Given the description of an element on the screen output the (x, y) to click on. 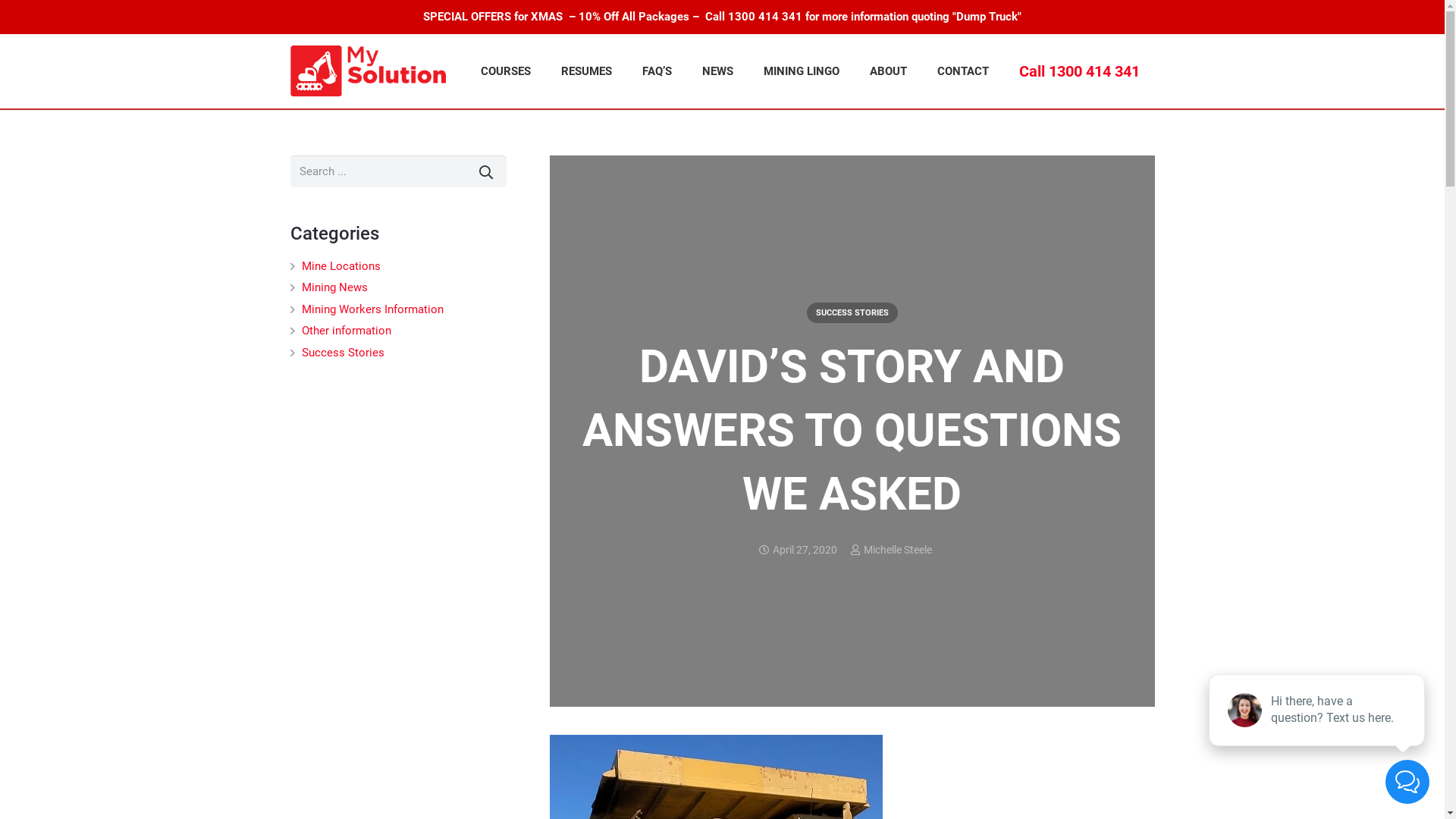
Michelle Steele Element type: text (896, 549)
COURSES Element type: text (505, 71)
Success Stories Element type: text (342, 352)
Mining News Element type: text (334, 287)
Mine Locations Element type: text (340, 266)
RESUMES Element type: text (586, 71)
Mining Workers Information Element type: text (372, 309)
ABOUT Element type: text (888, 71)
CONTACT Element type: text (963, 71)
NEWS Element type: text (717, 71)
Call 1300 414 341 Element type: text (1079, 71)
Other information Element type: text (346, 330)
MINING LINGO Element type: text (801, 71)
SUCCESS STORIES Element type: text (851, 312)
